Given the description of an element on the screen output the (x, y) to click on. 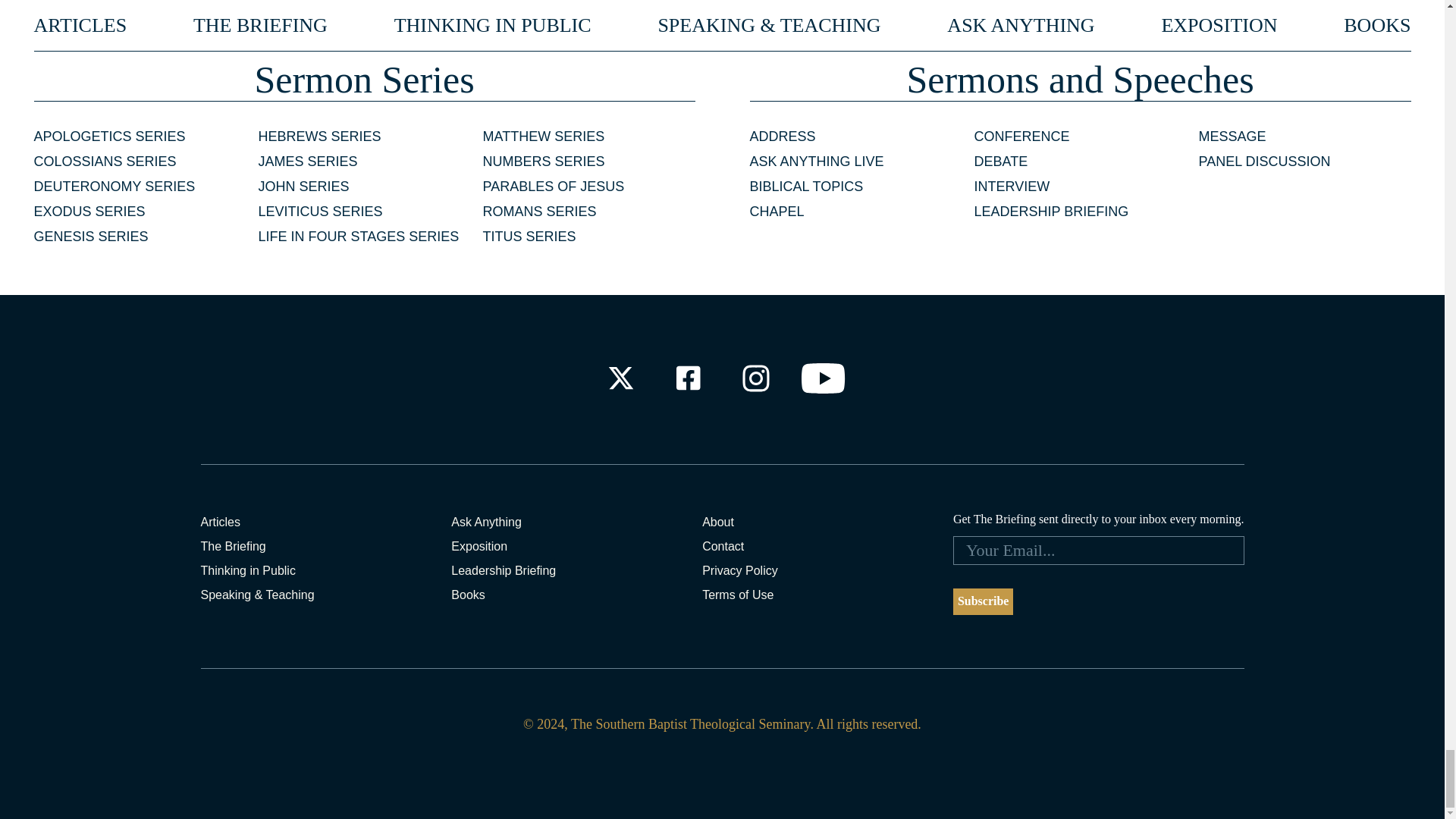
Check out our Youtube Channel (822, 377)
Subscribe (983, 601)
Check out our X Profile (620, 377)
Check out our Instagram Profile (755, 377)
Check out our Facebook Profile (687, 377)
